Given the description of an element on the screen output the (x, y) to click on. 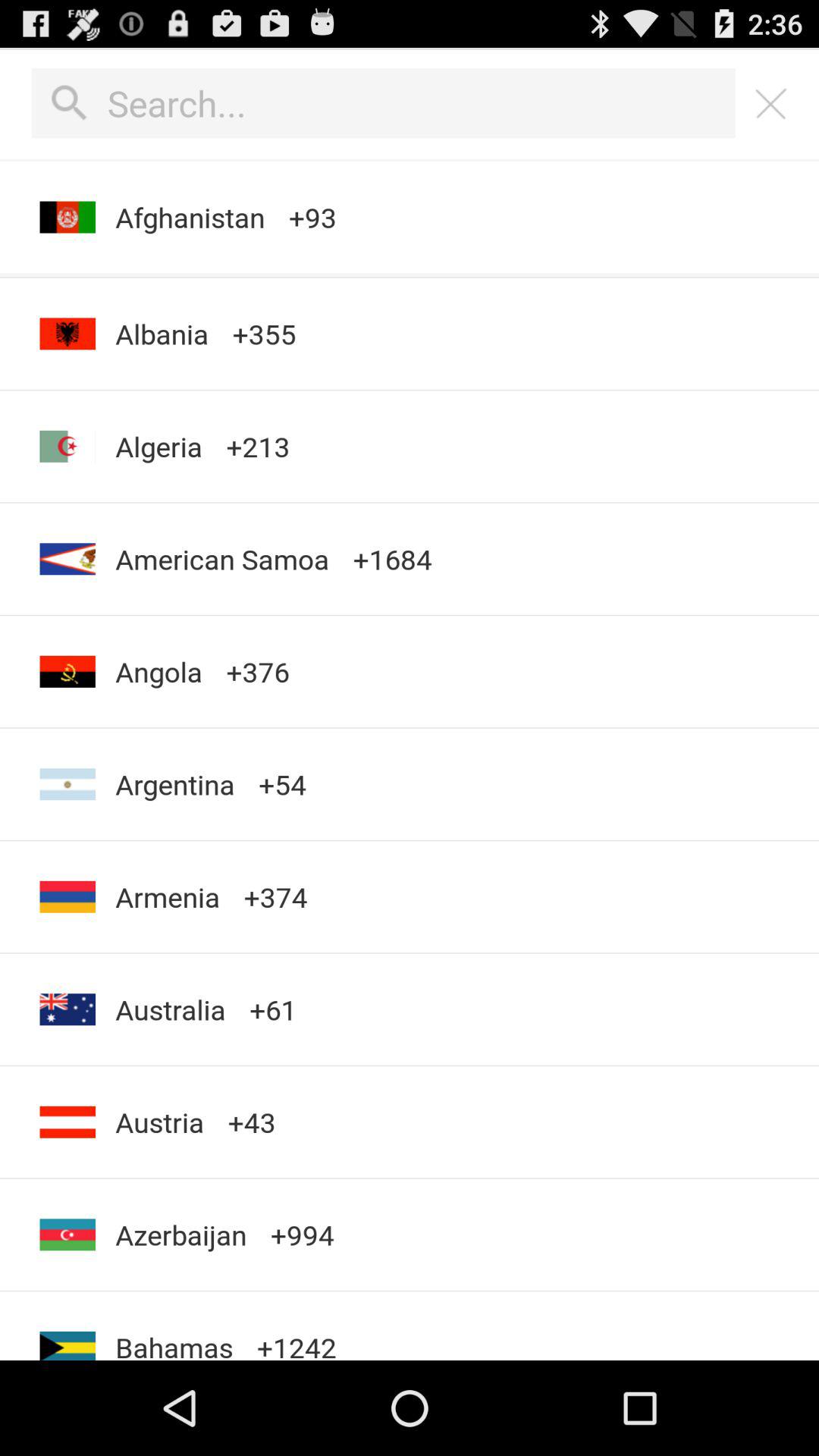
open +994 app (302, 1234)
